Given the description of an element on the screen output the (x, y) to click on. 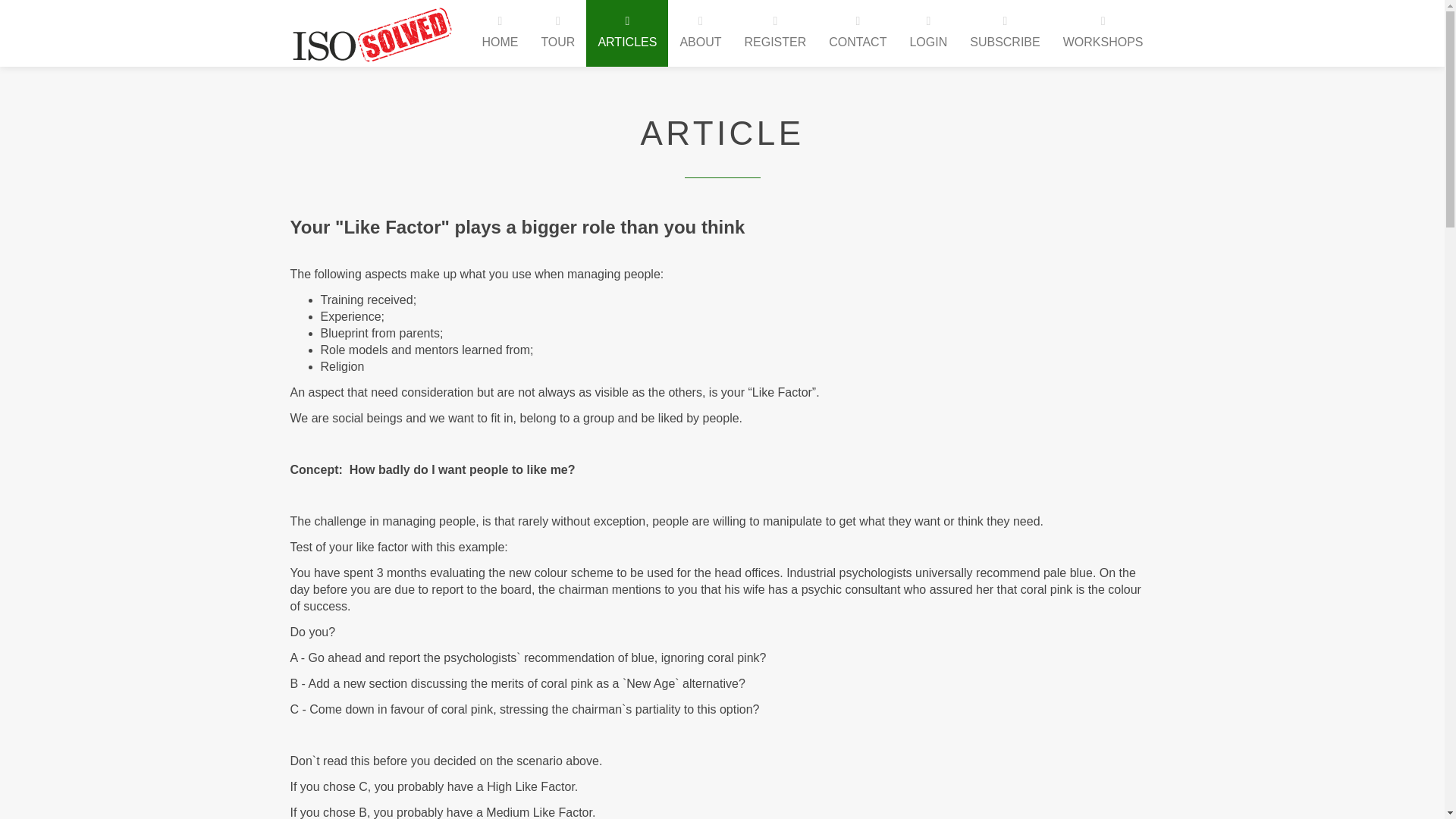
REGISTER (774, 33)
CONTACT (857, 33)
SUBSCRIBE (1004, 33)
ABOUT (700, 33)
WORKSHOPS (1102, 33)
LOGIN (928, 33)
ARTICLES (627, 33)
